Given the description of an element on the screen output the (x, y) to click on. 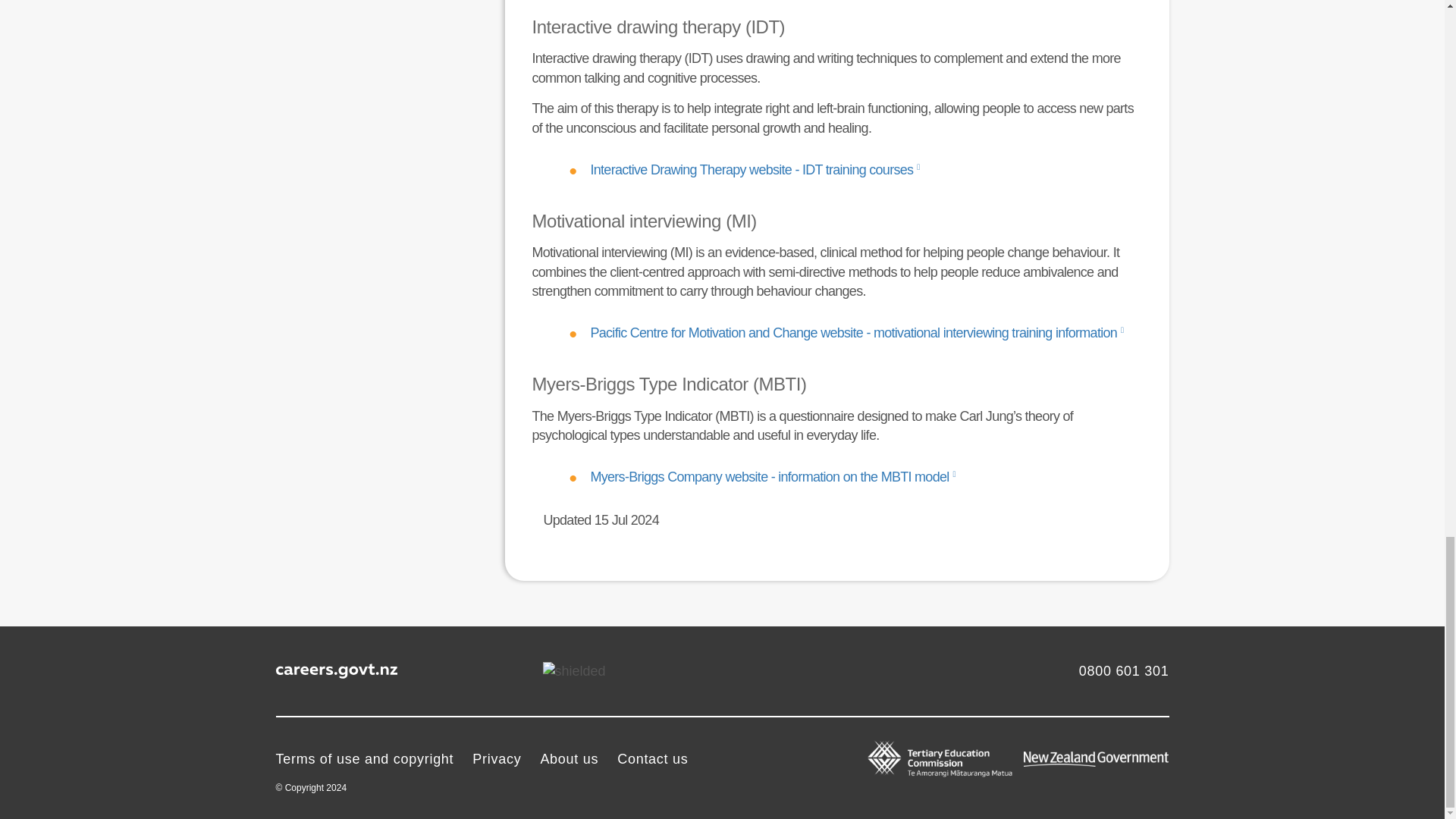
go to our YouTube channel (470, 670)
go to our Instagram channel (510, 670)
go to our Facebook channel (429, 670)
